Given the description of an element on the screen output the (x, y) to click on. 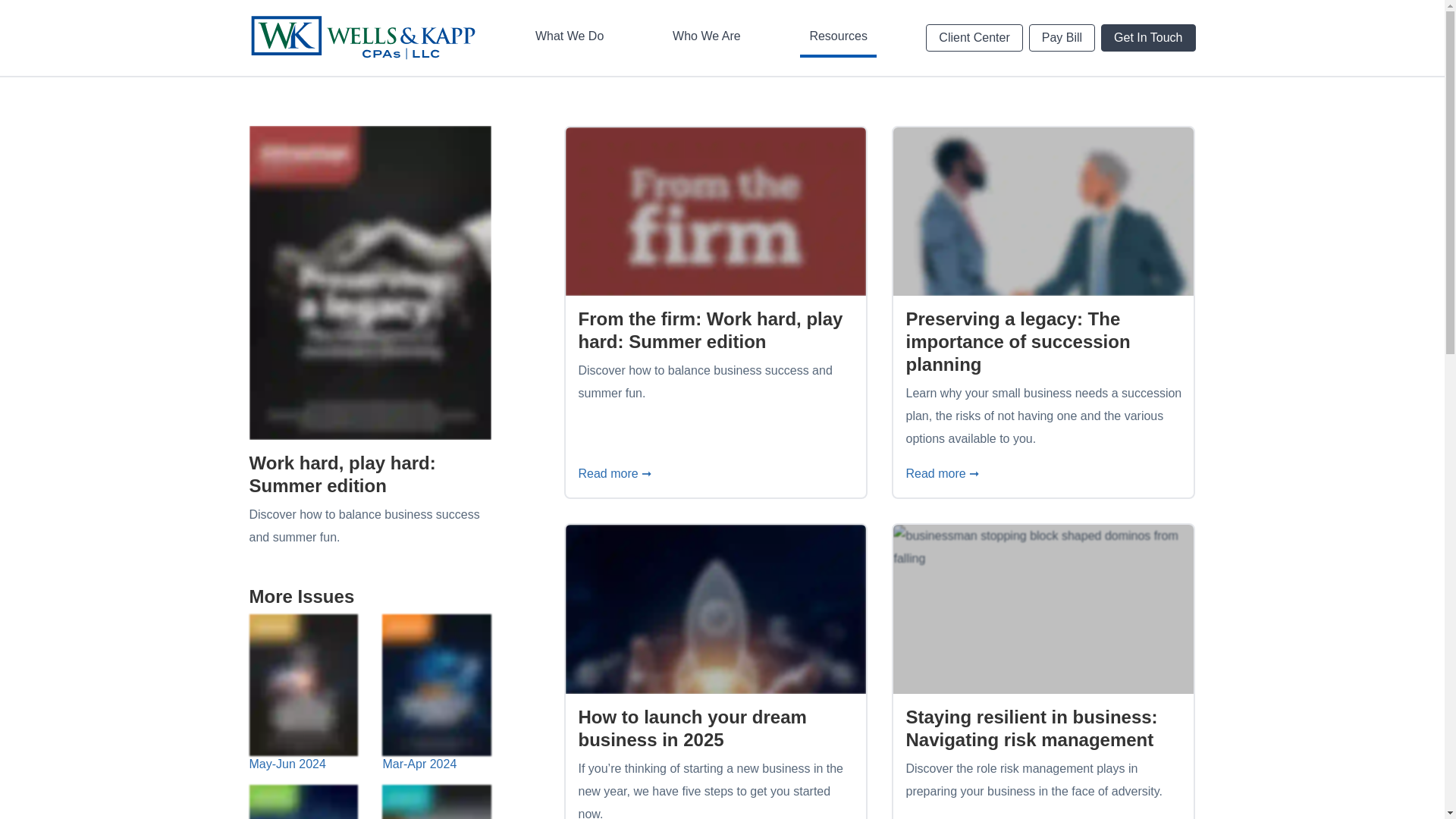
What We Do (568, 37)
Get In Touch (856, 21)
Resources (1147, 37)
Pay Bill (837, 37)
Client Center (1061, 37)
Jan-Feb 2024 (974, 37)
Who We Are (303, 801)
